Given the description of an element on the screen output the (x, y) to click on. 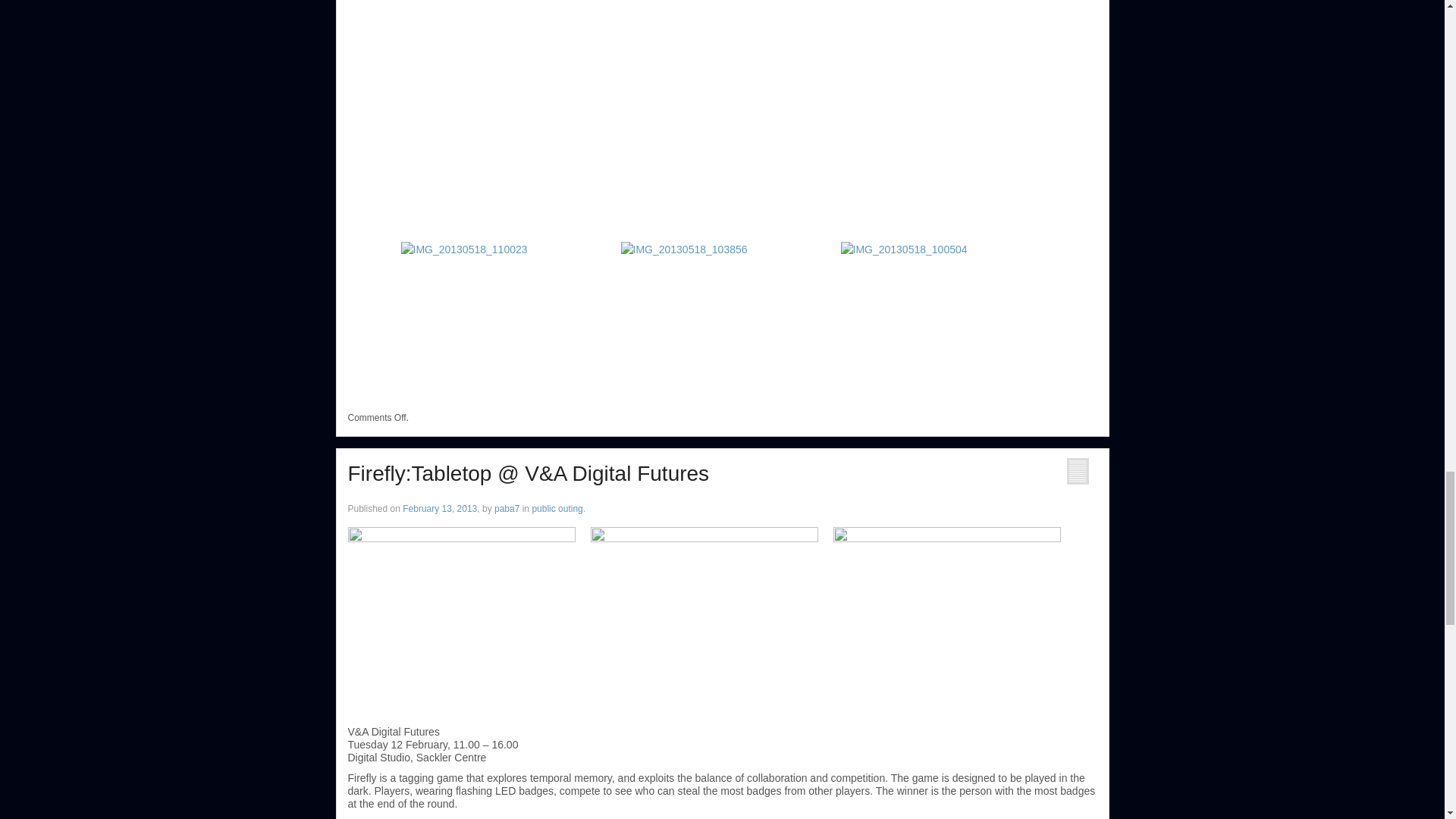
tabletop (461, 612)
Posts by paba7 (507, 508)
View all posts in public outing (556, 508)
